Given the description of an element on the screen output the (x, y) to click on. 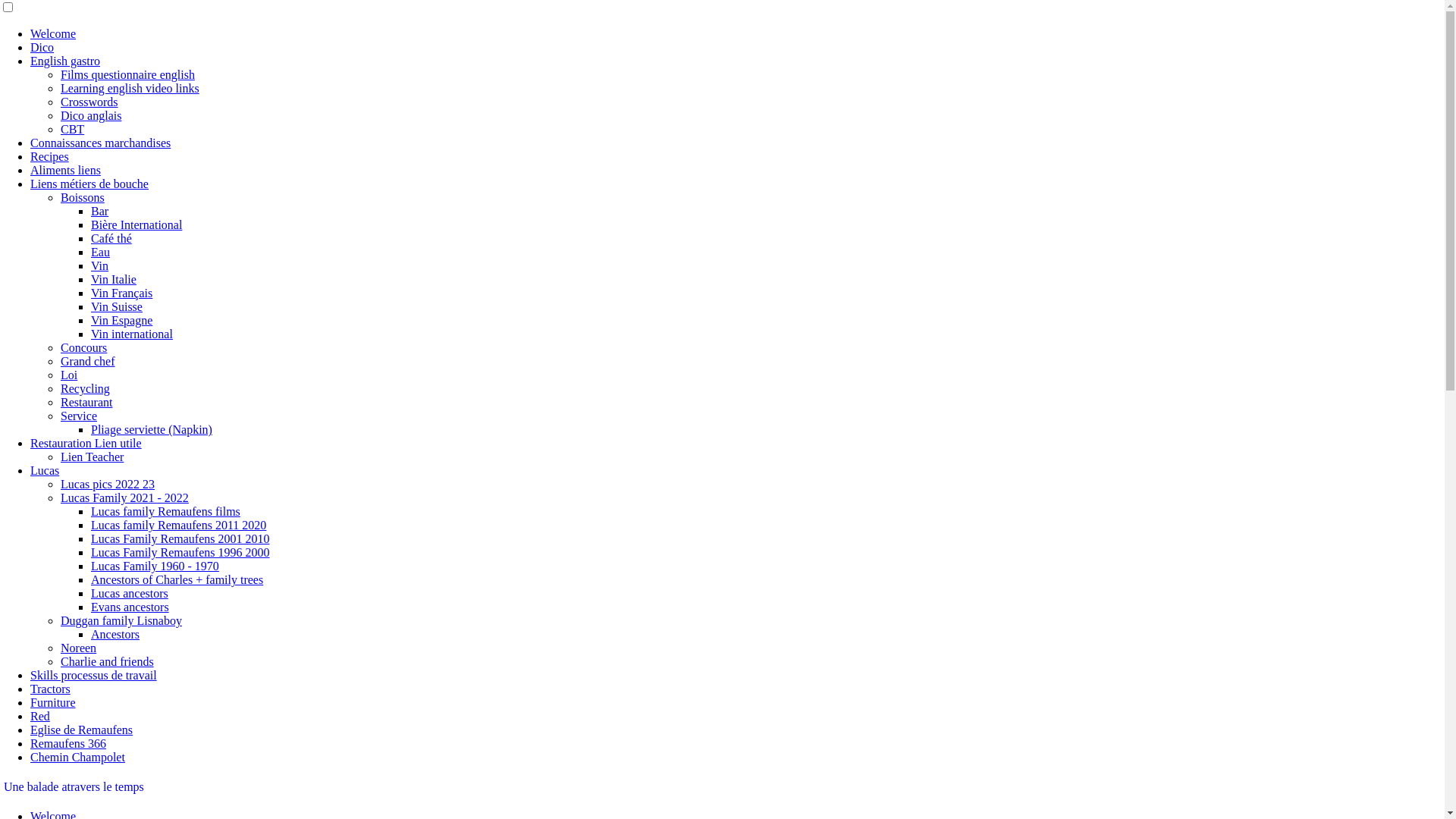
Vin Suisse Element type: text (116, 306)
Vin Italie Element type: text (113, 279)
Chemin Champolet Element type: text (77, 756)
Grand chef Element type: text (87, 360)
Duggan family Lisnaboy Element type: text (121, 620)
Lucas Element type: text (44, 470)
Charlie and friends Element type: text (106, 661)
Lucas family Remaufens films Element type: text (165, 511)
Recycling Element type: text (84, 388)
Recipes Element type: text (49, 156)
Evans ancestors Element type: text (130, 606)
Loi Element type: text (68, 374)
Remaufens 366 Element type: text (68, 743)
Furniture Element type: text (52, 702)
Welcome Element type: text (52, 33)
Connaissances marchandises Element type: text (100, 142)
Restaurant Element type: text (86, 401)
Lucas ancestors Element type: text (129, 592)
Vin international Element type: text (131, 333)
Vin Element type: text (99, 265)
Tractors Element type: text (50, 688)
Skills processus de travail Element type: text (93, 674)
Service Element type: text (78, 415)
Lien Teacher Element type: text (91, 456)
Lucas Family 1960 - 1970 Element type: text (155, 565)
Lucas Family Remaufens 1996 2000 Element type: text (180, 552)
Dico anglais Element type: text (90, 115)
Red Element type: text (40, 715)
Crosswords Element type: text (89, 101)
Une balade atravers le temps Element type: text (73, 786)
Eau Element type: text (100, 251)
Lucas Family Remaufens 2001 2010 Element type: text (180, 538)
Lucas Family 2021 - 2022 Element type: text (124, 497)
English gastro Element type: text (65, 60)
Lucas family Remaufens 2011 2020 Element type: text (178, 524)
Dico Element type: text (41, 46)
CBT Element type: text (72, 128)
Ancestors of Charles + family trees Element type: text (177, 579)
Boissons Element type: text (82, 197)
Concours Element type: text (83, 347)
Vin Espagne Element type: text (121, 319)
Eglise de Remaufens Element type: text (81, 729)
Restauration Lien utile Element type: text (85, 442)
Ancestors Element type: text (115, 633)
Noreen Element type: text (78, 647)
Pliage serviette (Napkin) Element type: text (151, 429)
Bar Element type: text (99, 210)
Aliments liens Element type: text (65, 169)
Lucas pics 2022 23 Element type: text (107, 483)
Films questionnaire english Element type: text (127, 74)
Learning english video links Element type: text (129, 87)
